Given the description of an element on the screen output the (x, y) to click on. 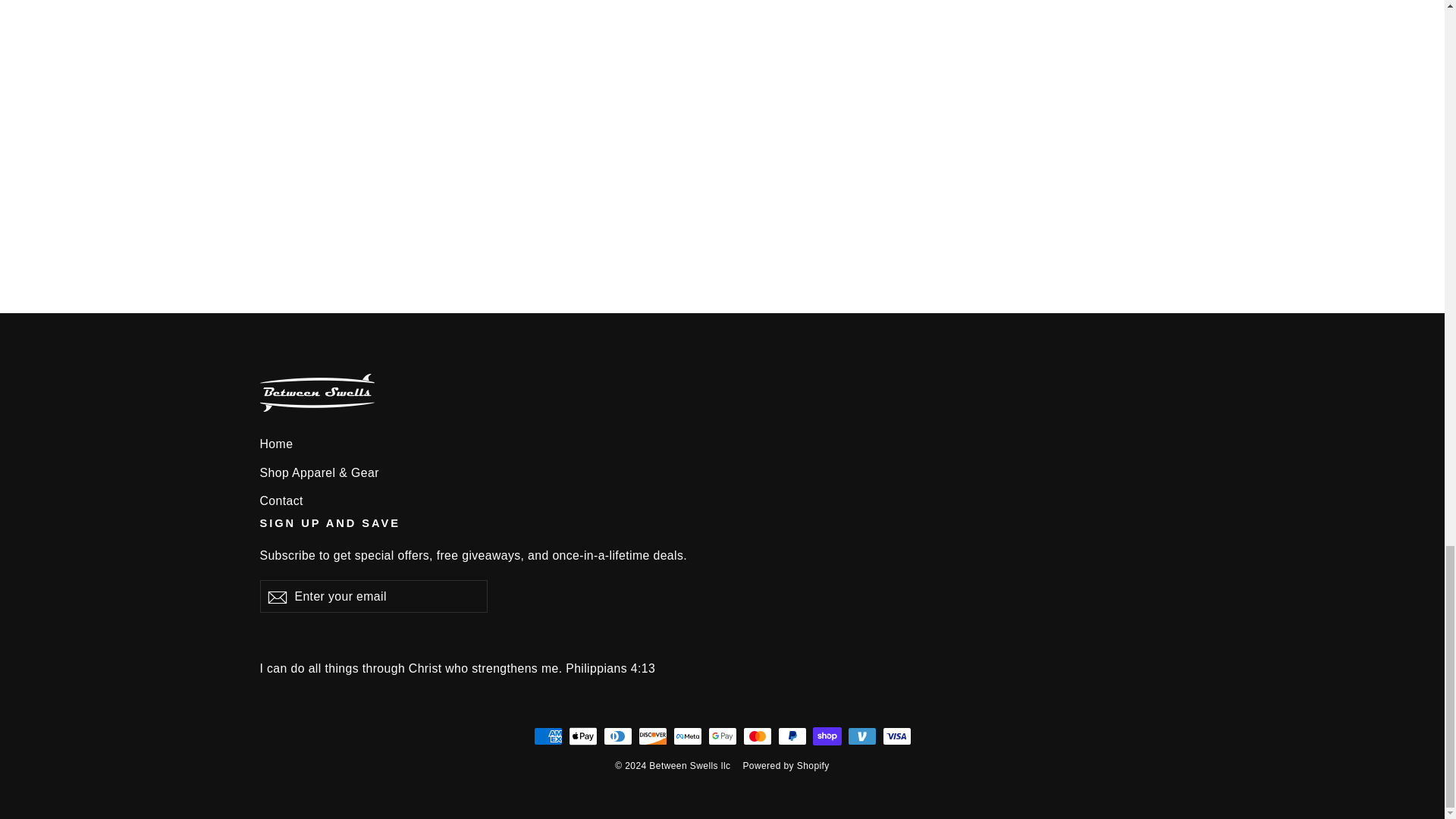
Apple Pay (582, 736)
Diners Club (617, 736)
Google Pay (721, 736)
Discover (652, 736)
American Express (548, 736)
Mastercard (756, 736)
PayPal (791, 736)
Shop Pay (826, 736)
Meta Pay (686, 736)
